Given the description of an element on the screen output the (x, y) to click on. 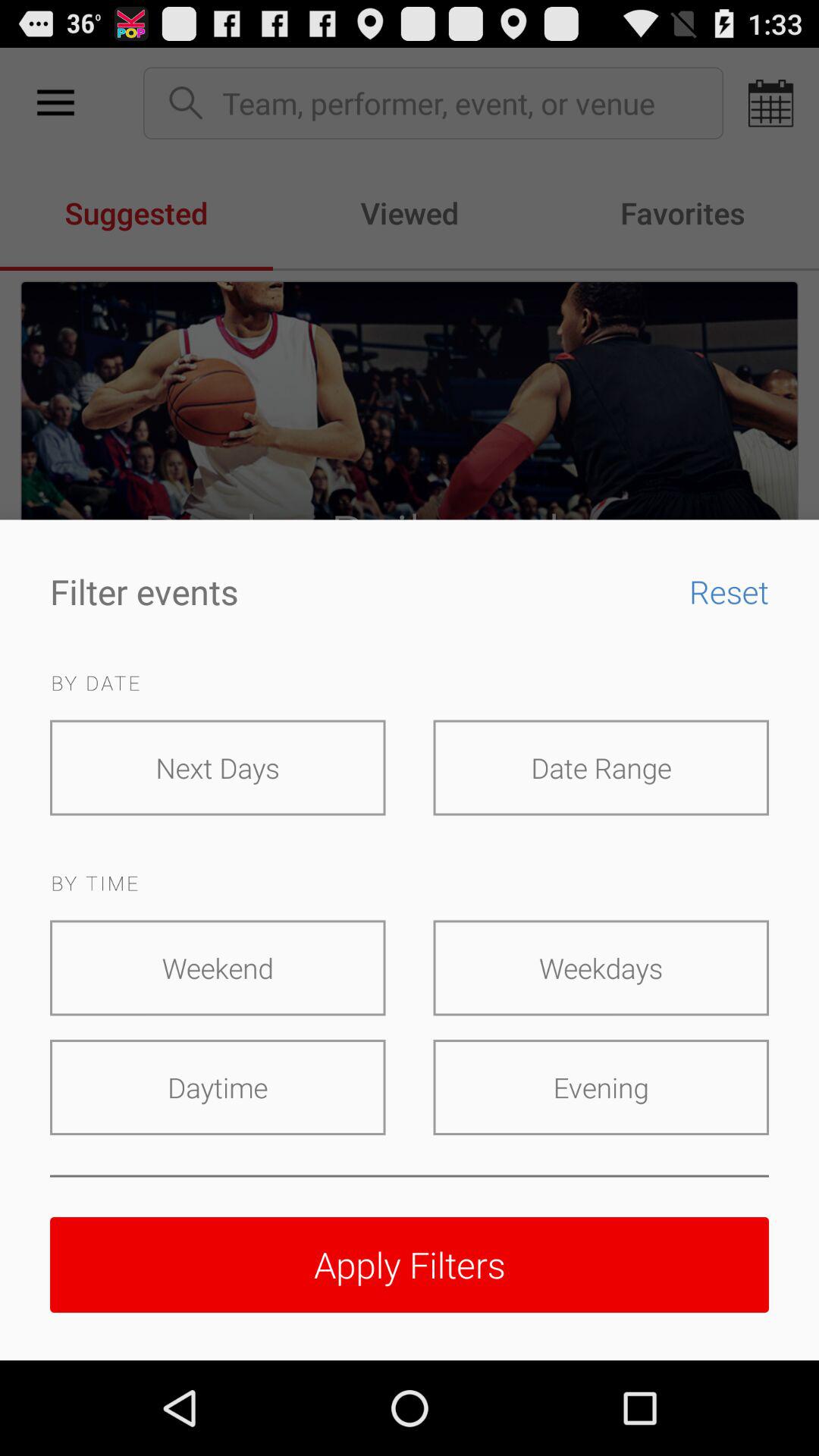
press evening item (600, 1087)
